Given the description of an element on the screen output the (x, y) to click on. 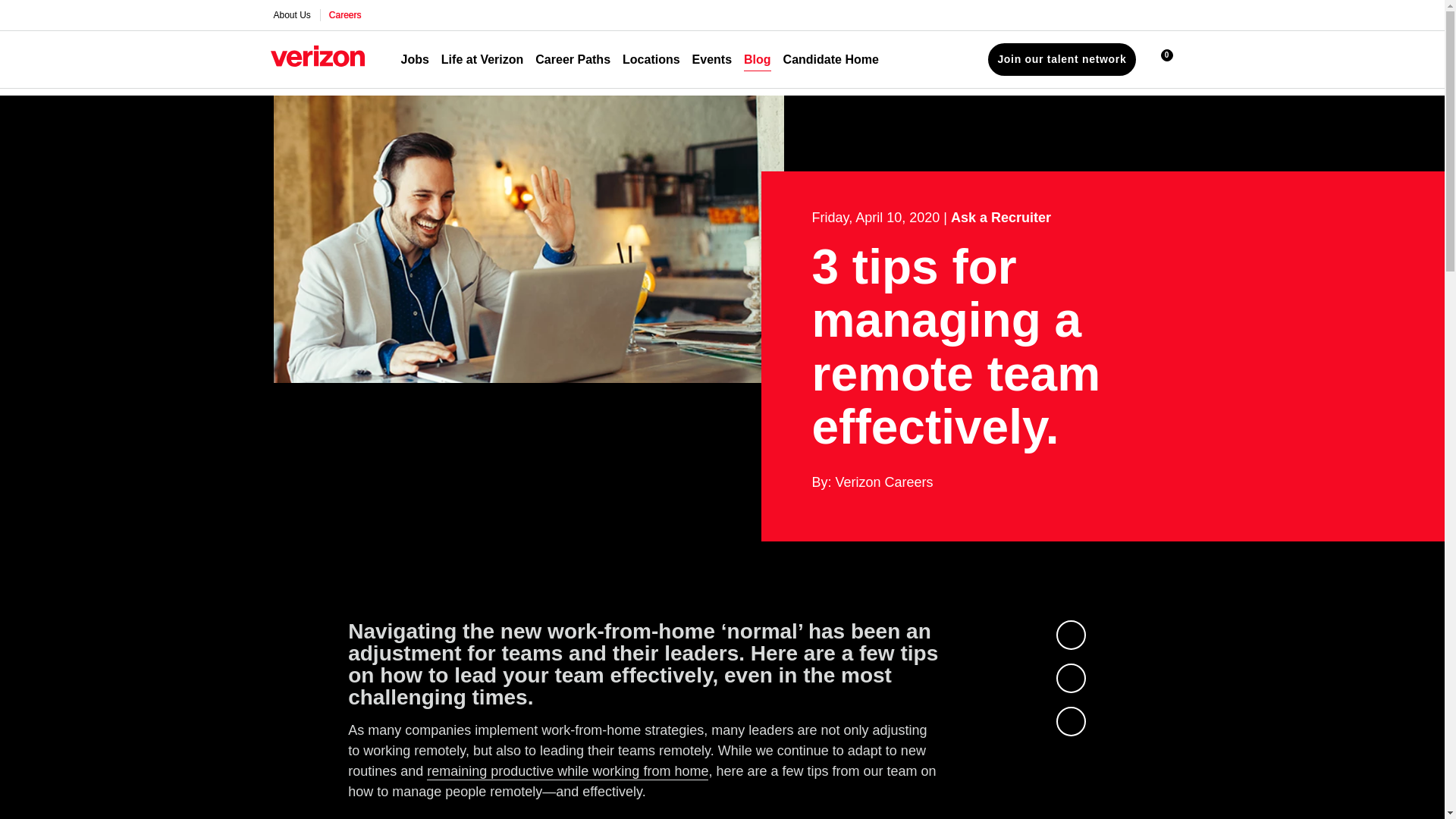
Candidate Home (831, 59)
Career Paths (572, 59)
4 ways to stay productive while you work from home. (566, 771)
Events (712, 59)
Jobs (414, 59)
Locations (651, 59)
Blog (757, 59)
Life at Verizon (481, 59)
Careers (345, 15)
About Us (290, 15)
